Given the description of an element on the screen output the (x, y) to click on. 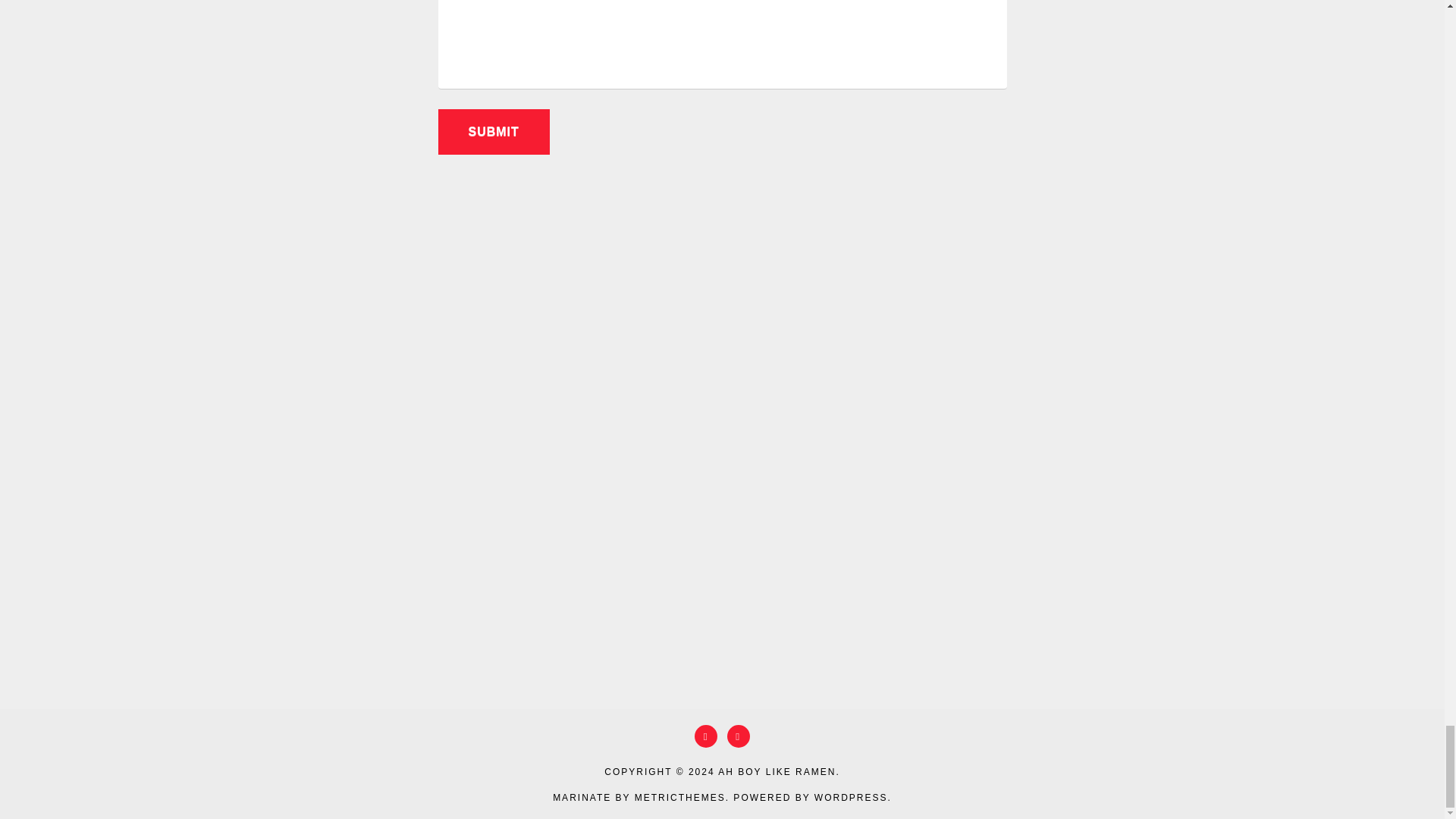
WORDPRESS (850, 797)
AH BOY LIKE RAMEN (776, 771)
Submit (494, 131)
Submit (494, 131)
MARINATE BY METRICTHEMES (639, 797)
